Given the description of an element on the screen output the (x, y) to click on. 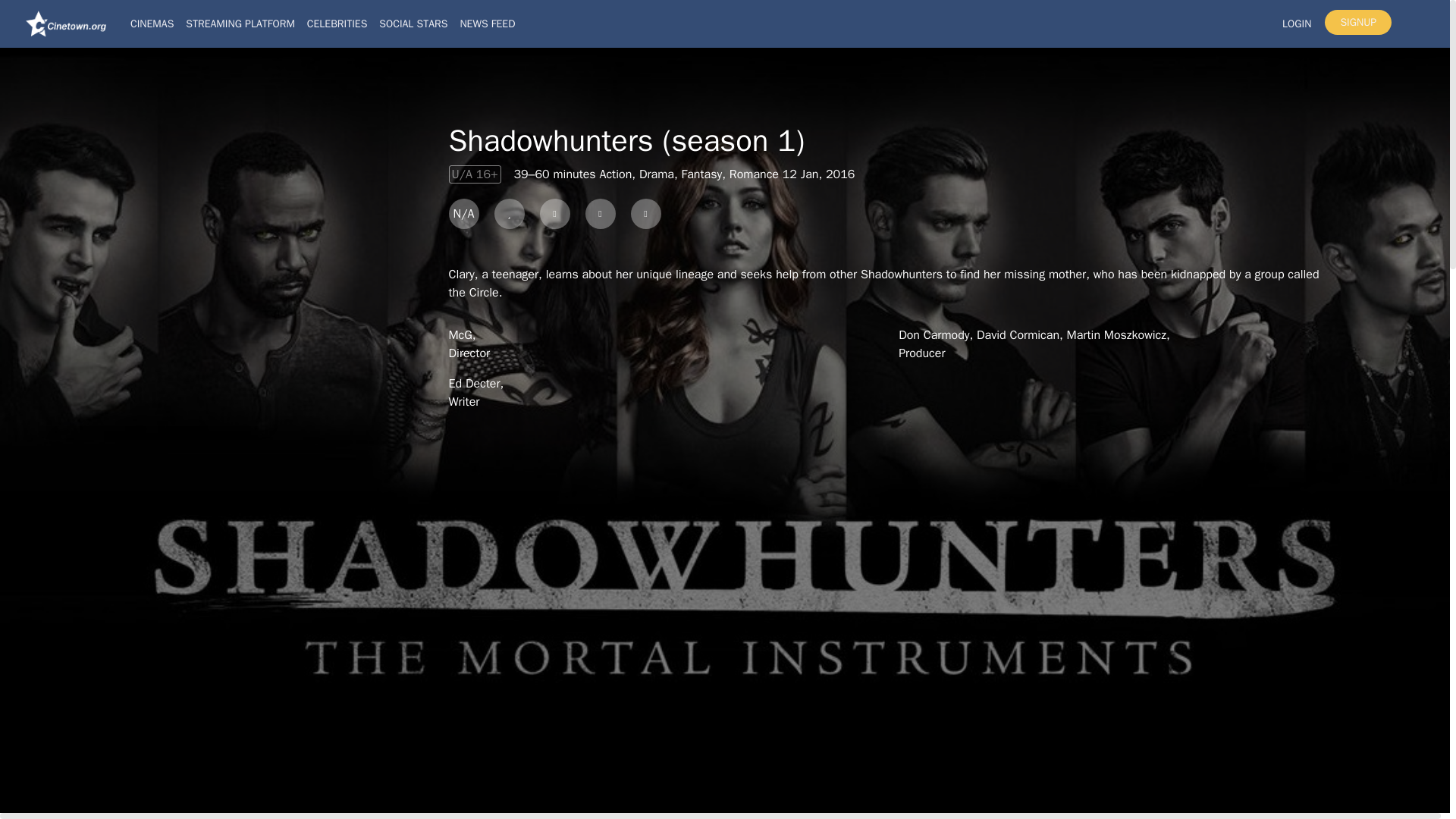
David Cormican, (1021, 335)
McG, (462, 335)
NEWS FEED (486, 23)
Martin Moszkowicz, (1118, 335)
LOGIN (1296, 23)
CELEBRITIES (336, 23)
SIGNUP (1357, 22)
STREAMING PLATFORM (240, 23)
SOCIAL STARS (412, 23)
Don Carmody, (937, 335)
CINEMAS (151, 23)
Ed Decter, (475, 383)
